Given the description of an element on the screen output the (x, y) to click on. 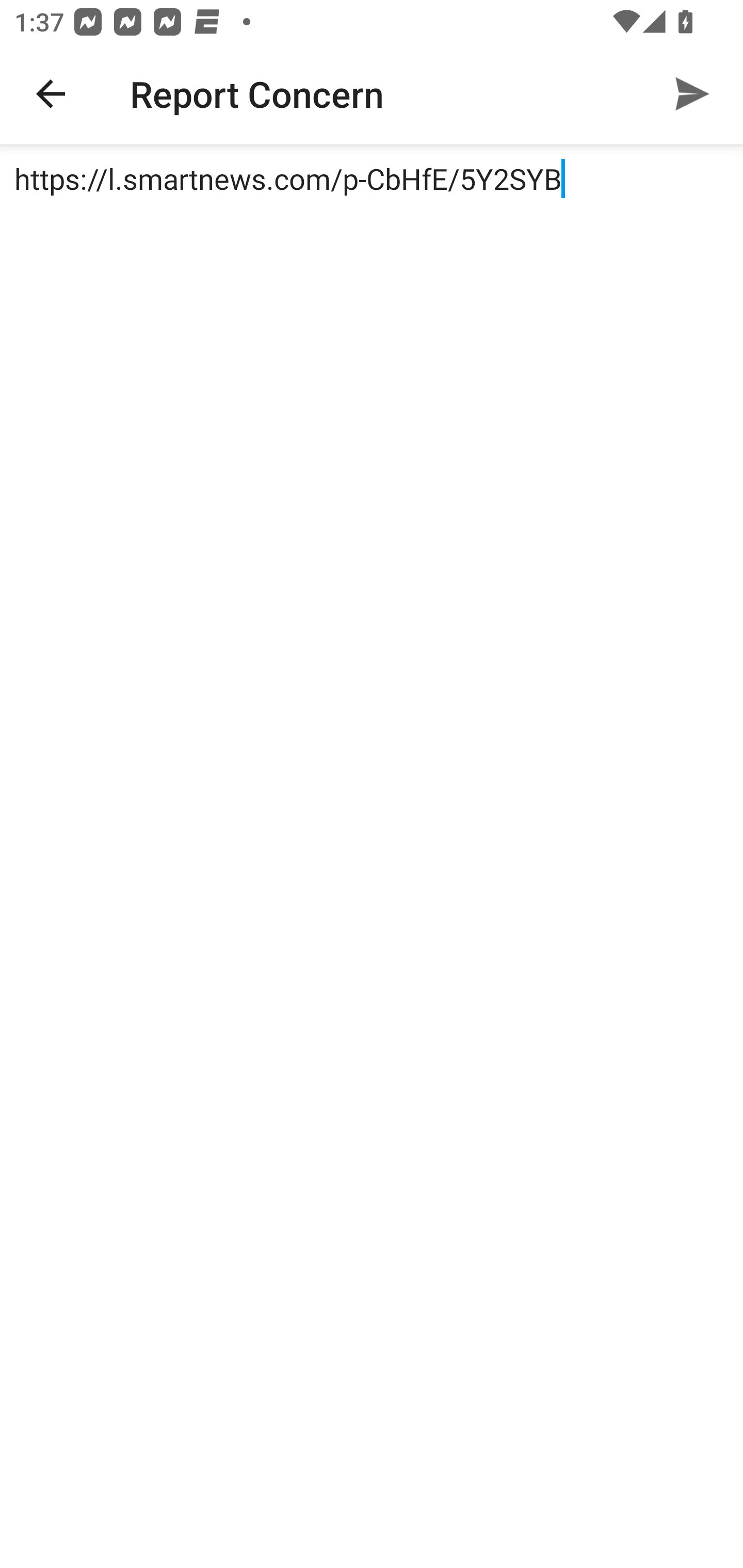
Navigate up (50, 93)
Send (692, 93)
